Given the description of an element on the screen output the (x, y) to click on. 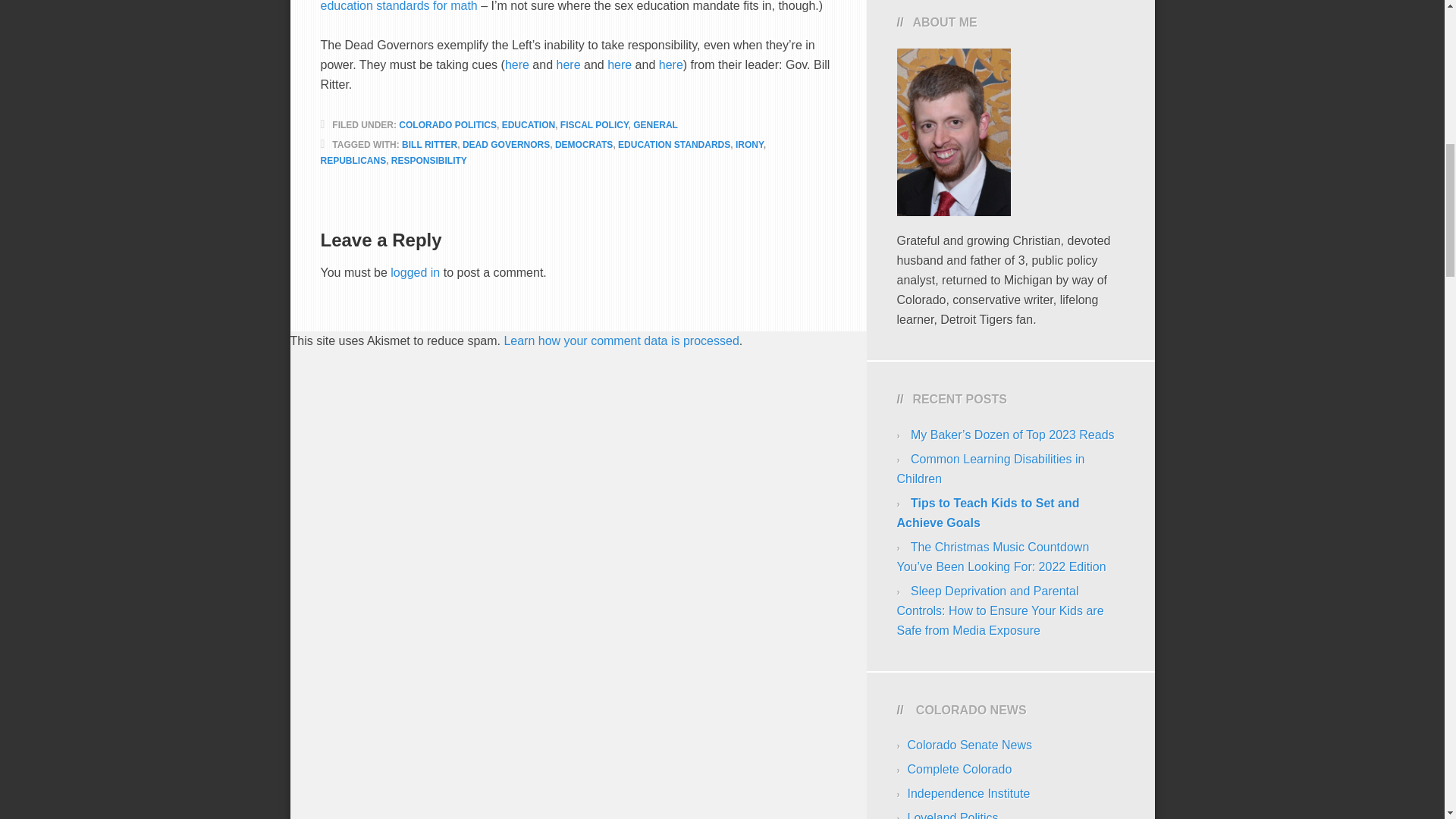
FISCAL POLICY (594, 124)
REPUBLICANS (352, 160)
EDUCATION (528, 124)
EDUCATION STANDARDS (673, 144)
here (670, 64)
DEMOCRATS (583, 144)
COLORADO POLITICS (447, 124)
here (568, 64)
IRONY (748, 144)
DEAD GOVERNORS (506, 144)
RESPONSIBILITY (429, 160)
here (619, 64)
GENERAL (655, 124)
BILL RITTER (429, 144)
here (517, 64)
